Given the description of an element on the screen output the (x, y) to click on. 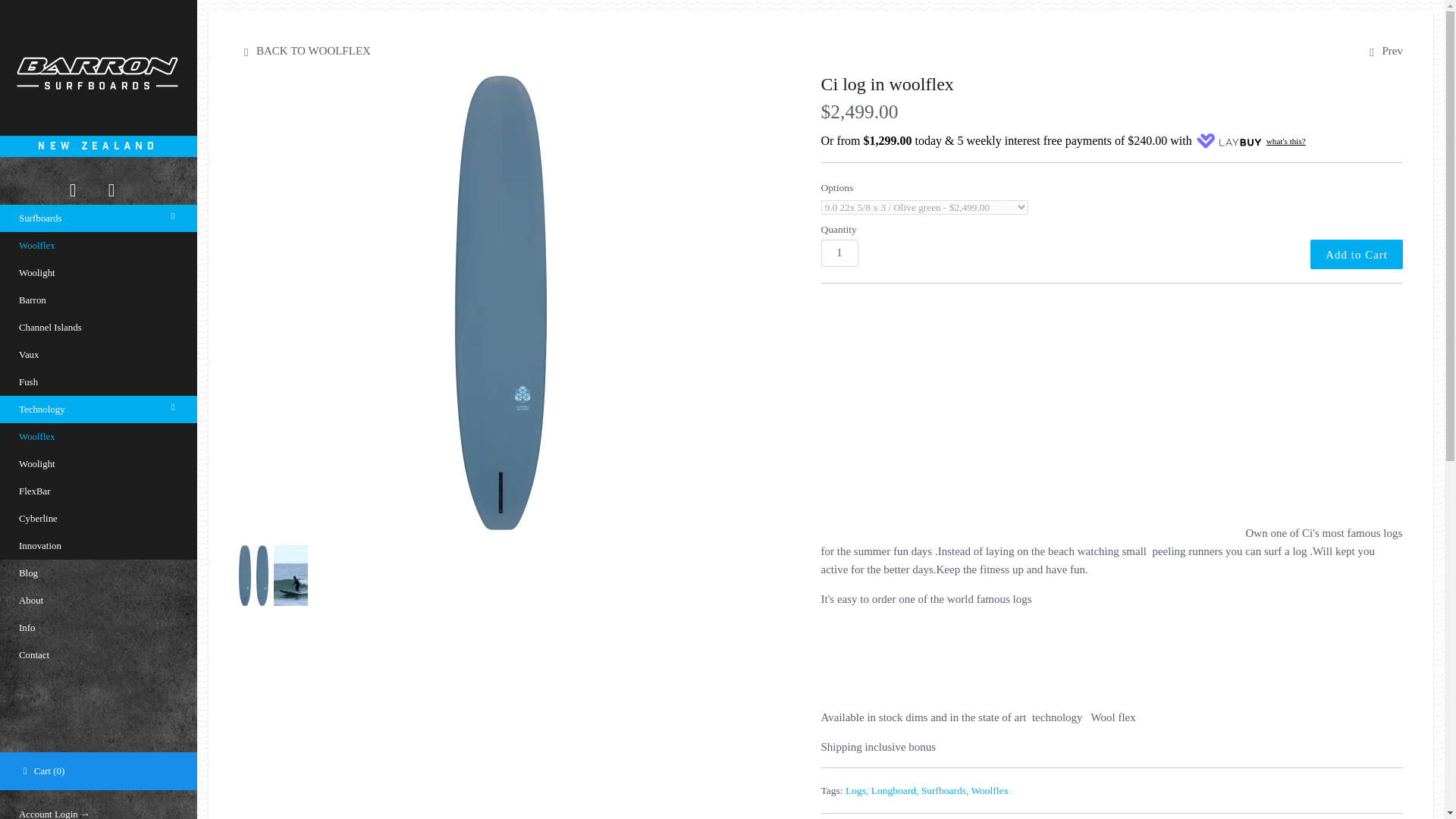
Channel Islands (98, 327)
Instagram (111, 189)
Facebook (72, 189)
Surfboards (98, 217)
Woolflex (98, 245)
Blog (98, 573)
About (98, 600)
Cyberline (98, 518)
1 (839, 252)
Fush (98, 381)
Vaux (98, 354)
Info (98, 627)
Technology (98, 409)
Woolflex (990, 790)
Contact (98, 655)
